Given the description of an element on the screen output the (x, y) to click on. 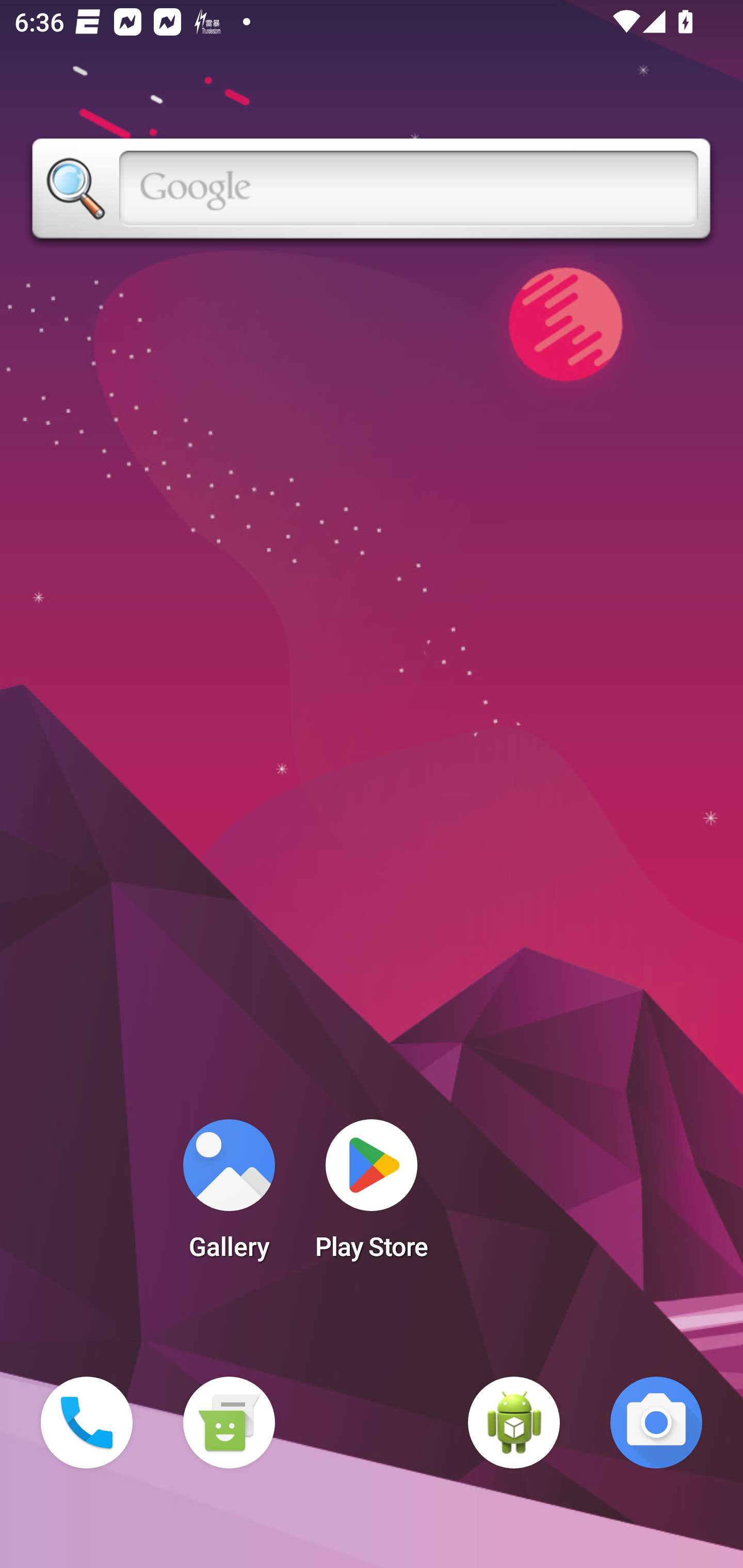
Gallery (228, 1195)
Play Store (371, 1195)
Phone (86, 1422)
Messaging (228, 1422)
WebView Browser Tester (513, 1422)
Camera (656, 1422)
